Given the description of an element on the screen output the (x, y) to click on. 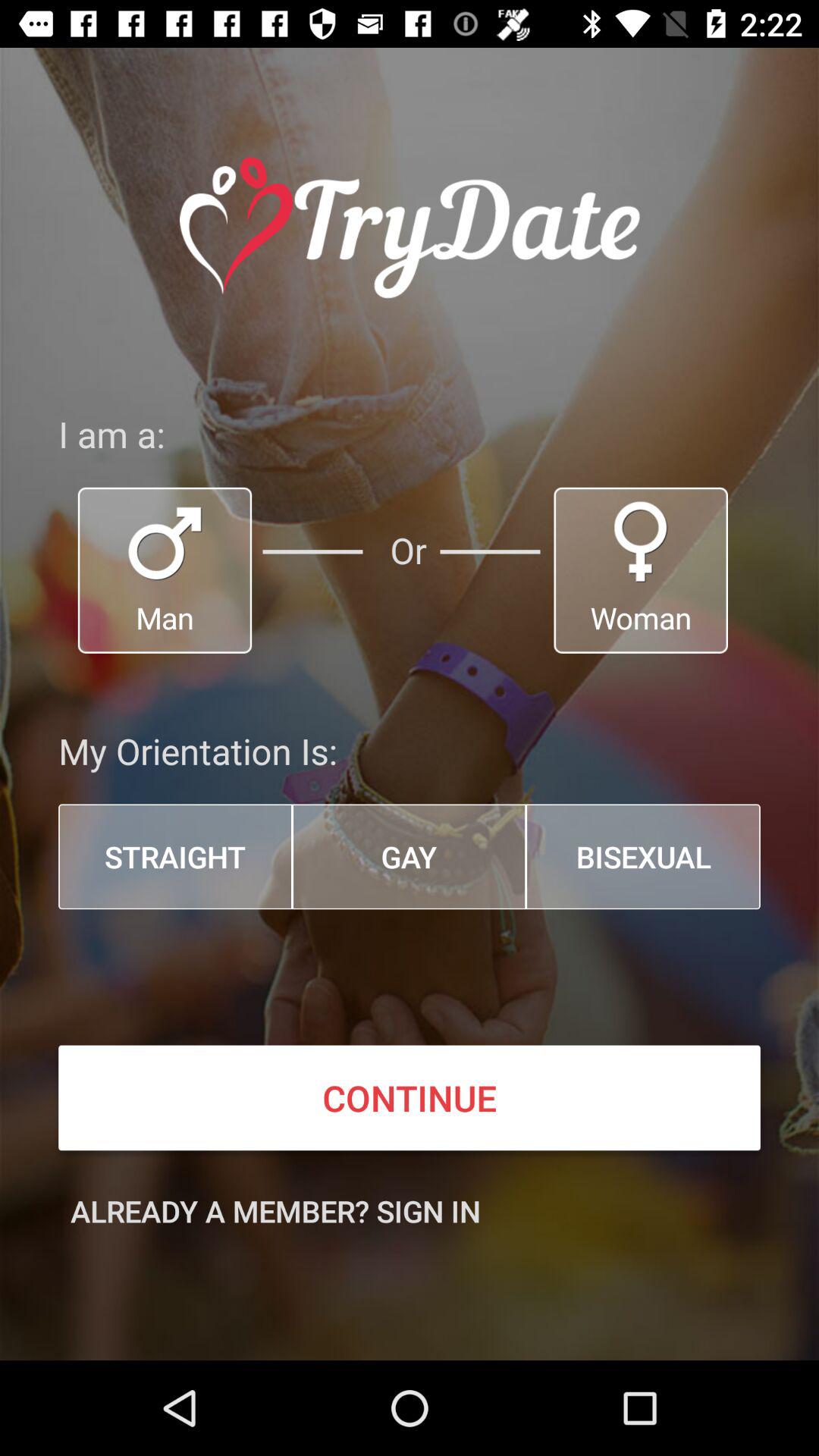
give the information about your gender (640, 570)
